Given the description of an element on the screen output the (x, y) to click on. 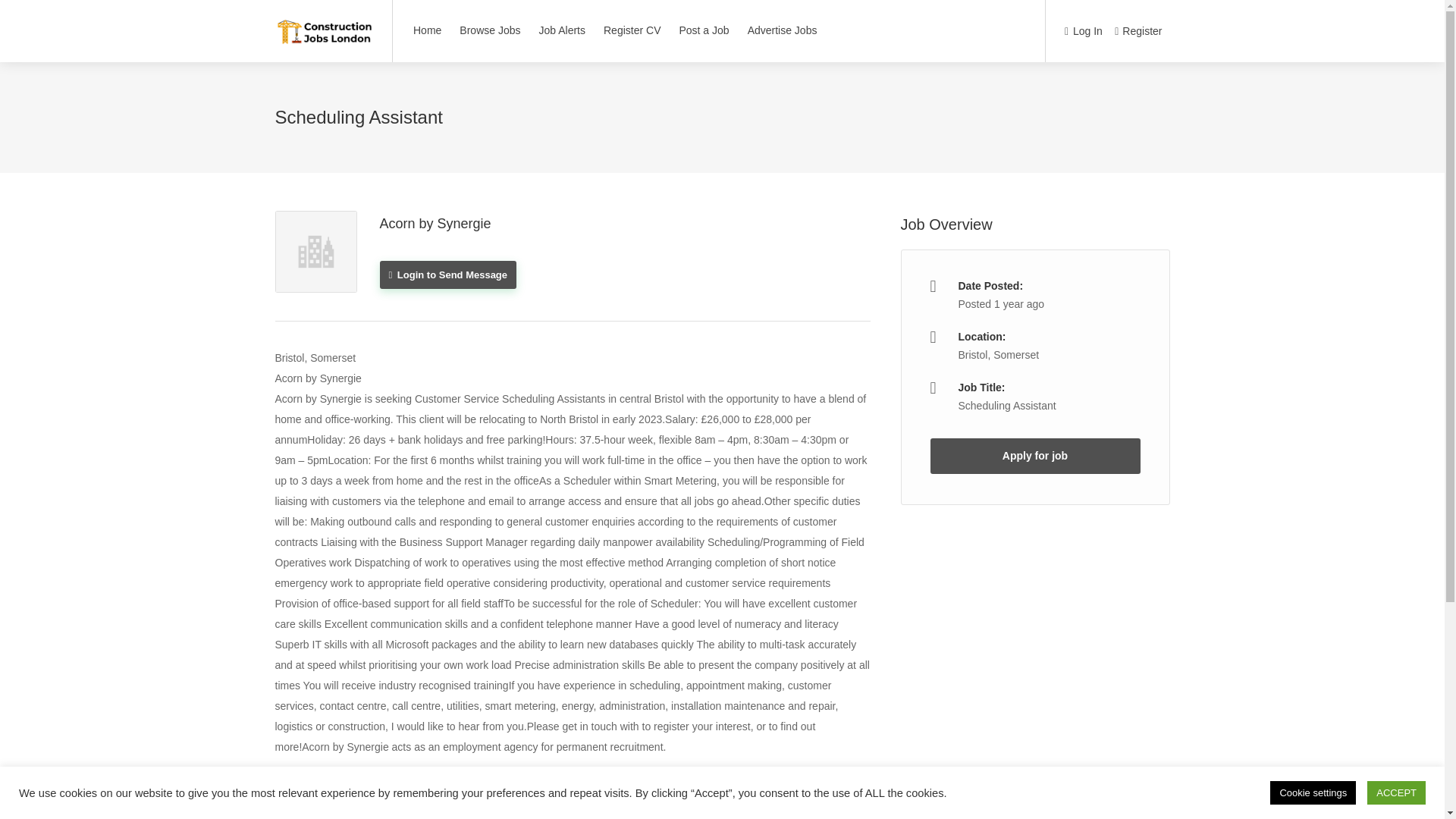
ACCEPT (1396, 792)
Login to Send Message (447, 275)
Register CV (631, 30)
Bristol, Somerset (998, 354)
Log In (1083, 31)
Home (426, 30)
Job Alerts (562, 30)
ConstructionJobsLondon (323, 22)
Register (1138, 31)
Cookie settings (1312, 792)
Apply for job (1035, 456)
Browse Jobs (489, 30)
Acorn by Synergie (434, 223)
Advertise Jobs (782, 30)
Post a Job (702, 30)
